Given the description of an element on the screen output the (x, y) to click on. 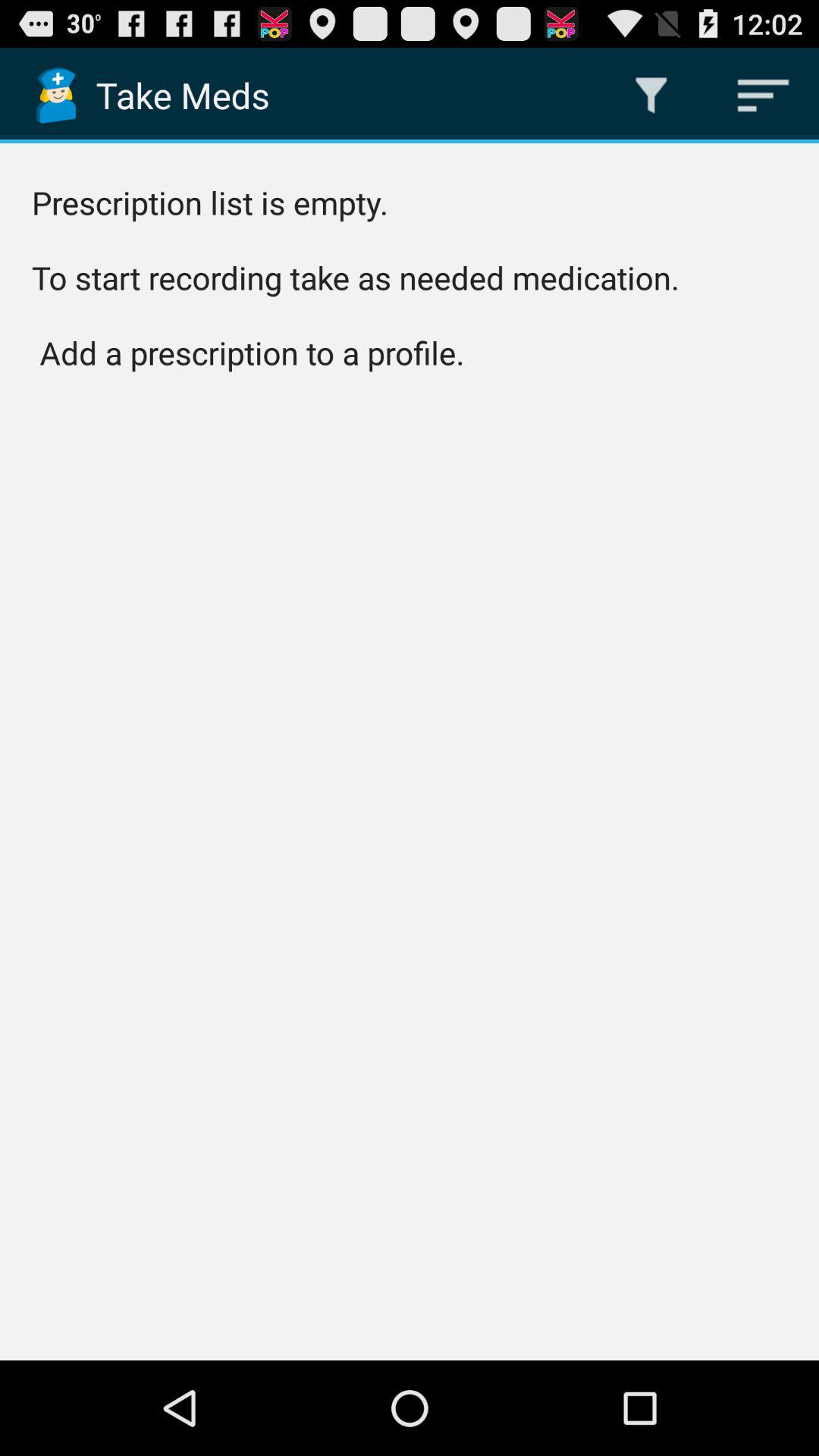
click the app to the right of take meds app (651, 95)
